Given the description of an element on the screen output the (x, y) to click on. 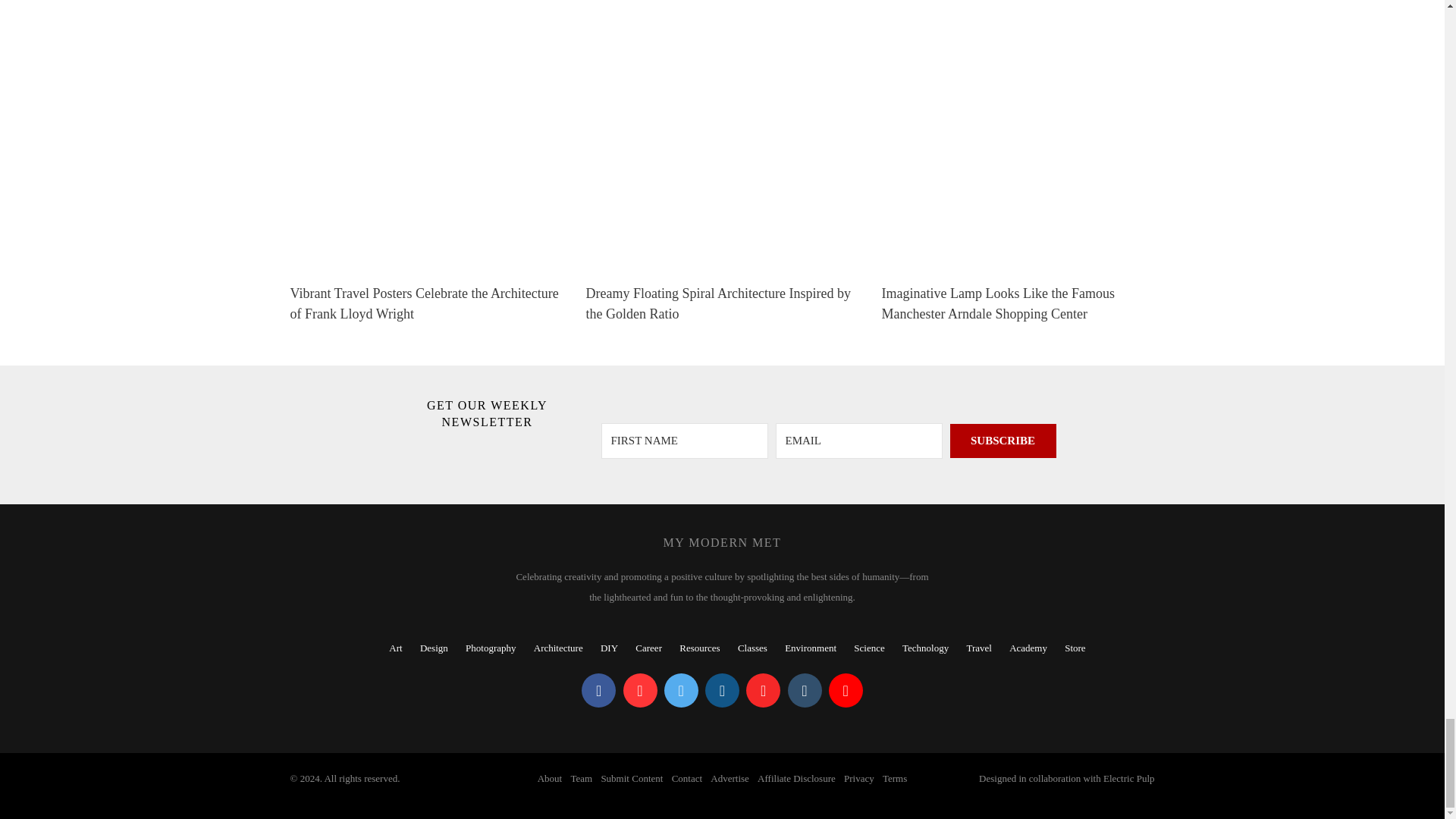
My Modern Met on Tumblr (804, 690)
My Modern Met on Pinterest (640, 690)
My Modern Met on Facebook (597, 690)
My Modern Met on Twitter (680, 690)
My Modern Met on YouTube (845, 690)
My Modern Met on Instagram (721, 690)
